Given the description of an element on the screen output the (x, y) to click on. 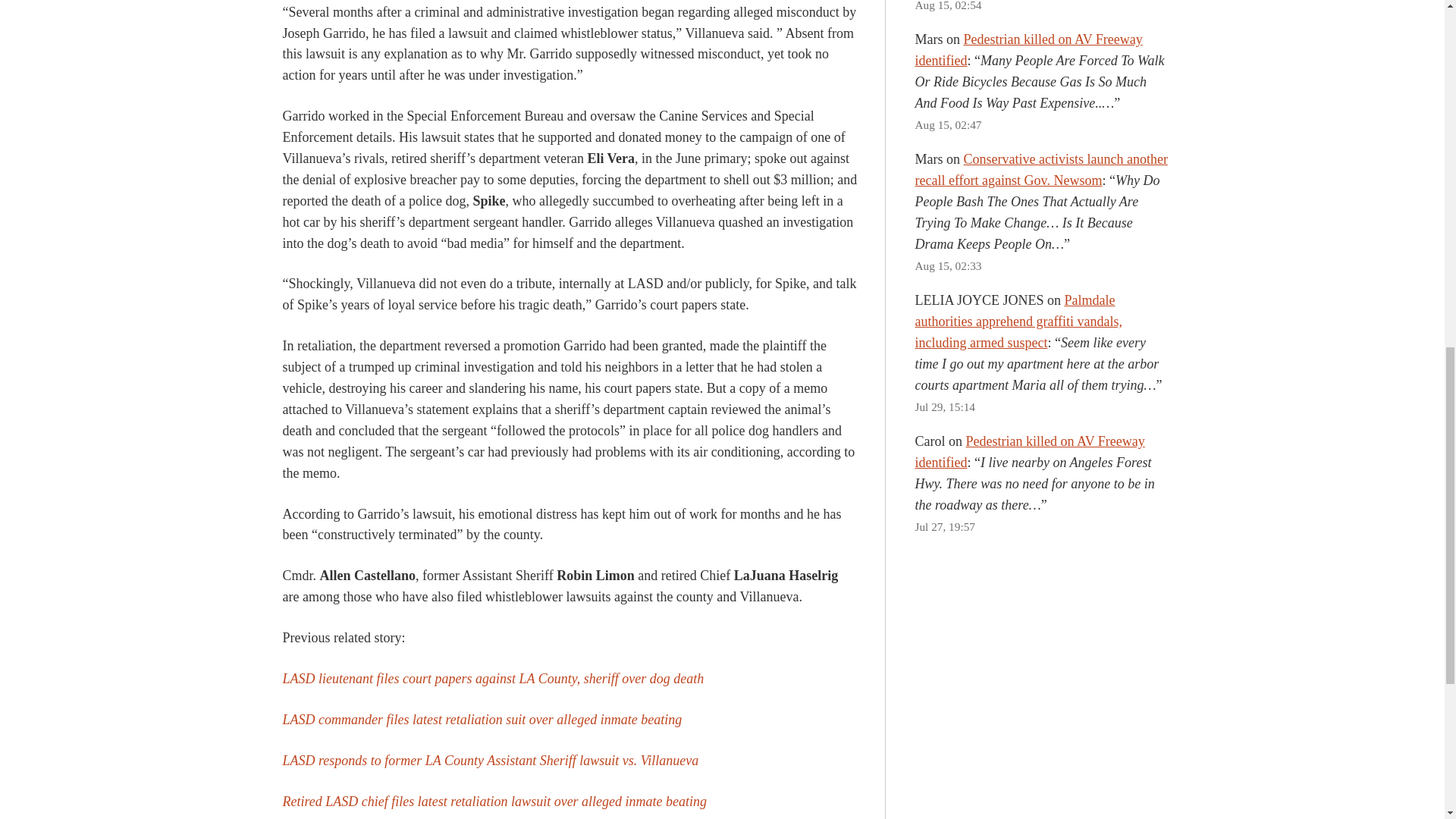
Pedestrian killed on AV Freeway identified (1029, 452)
Pedestrian killed on AV Freeway identified (1027, 49)
